Given the description of an element on the screen output the (x, y) to click on. 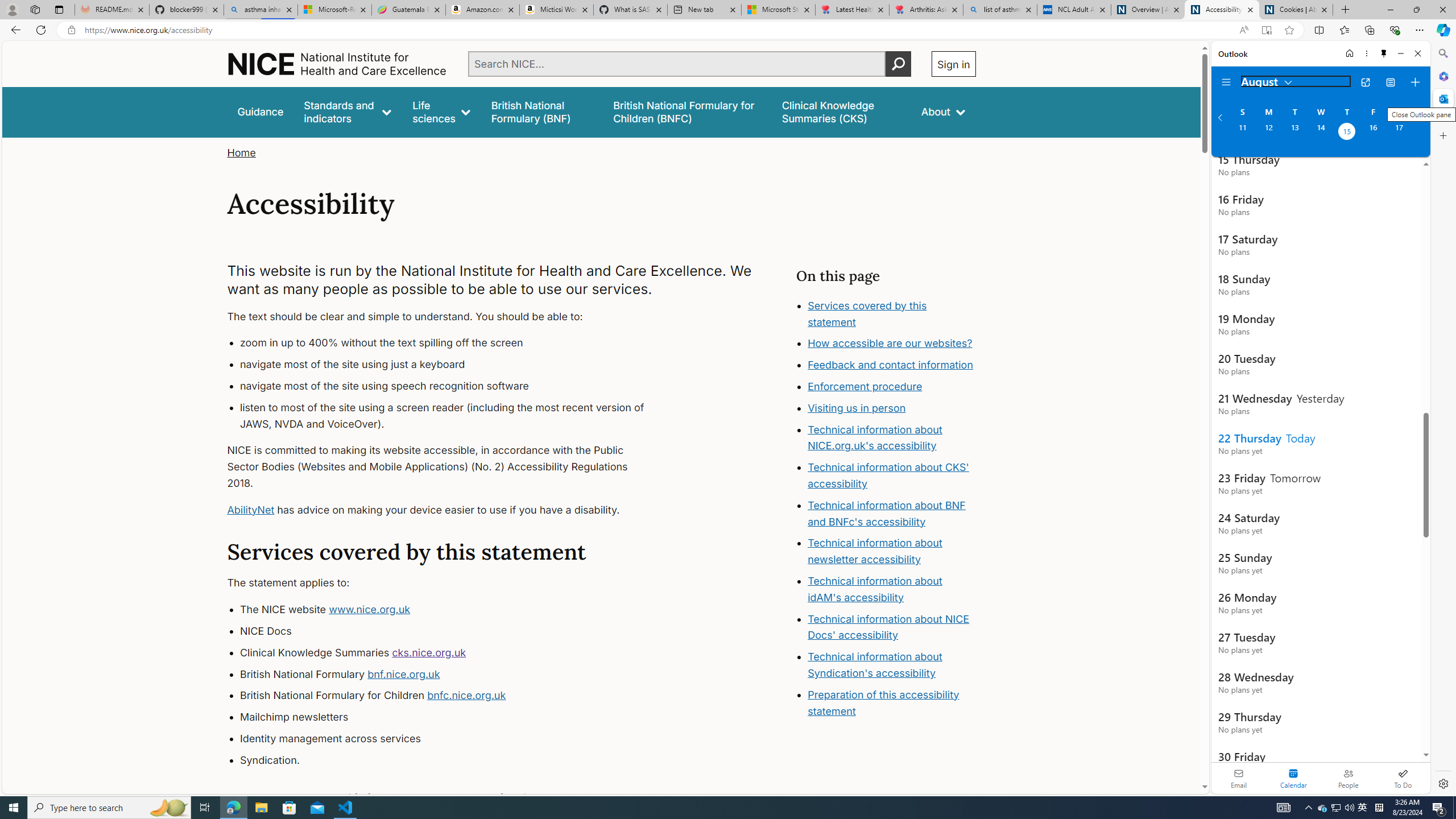
View Switcher. Current view is Agenda view (1390, 82)
Saturday, August 17, 2024.  (1399, 132)
Visiting us in person (891, 407)
